Given the description of an element on the screen output the (x, y) to click on. 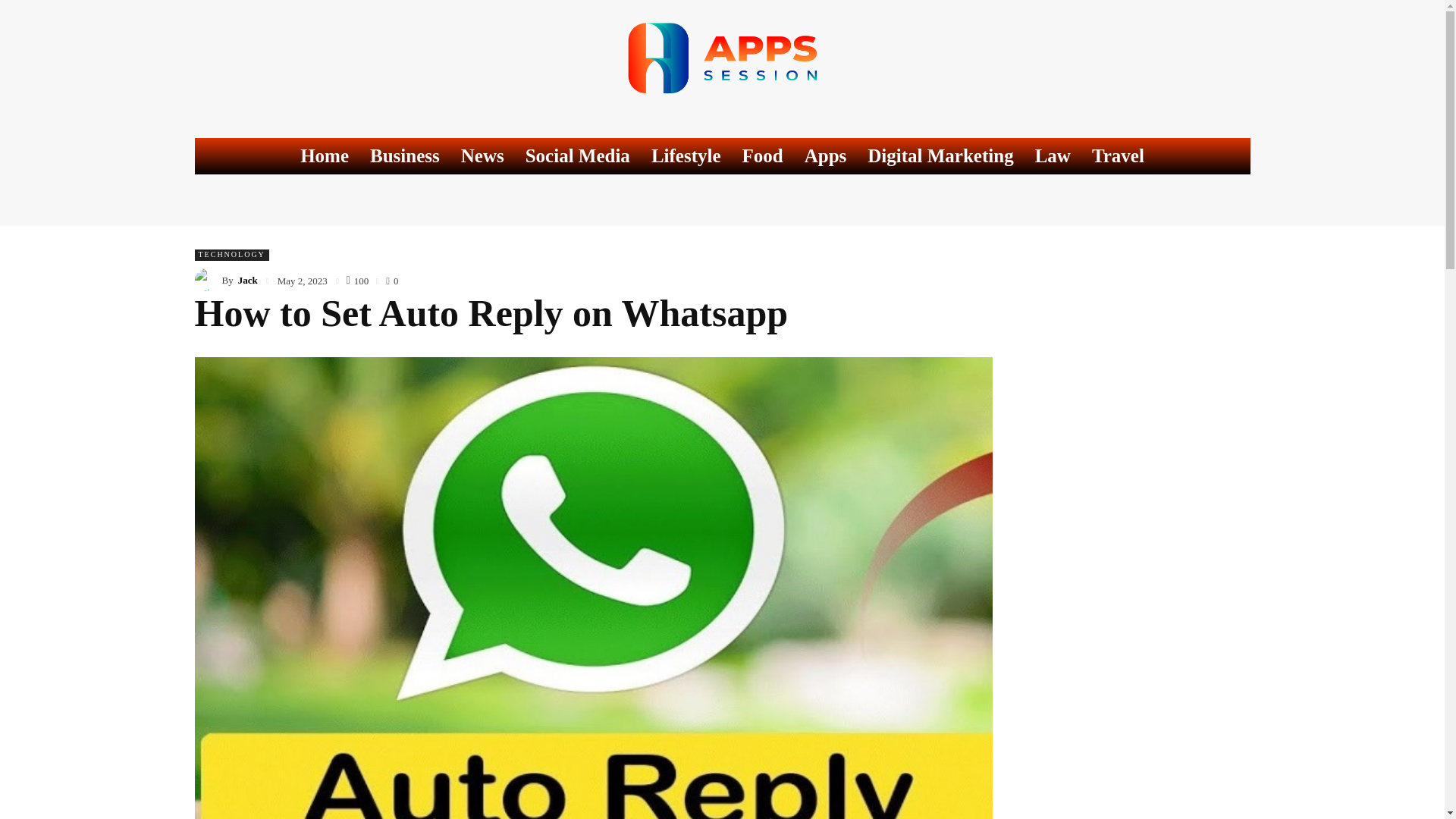
Travel (1117, 156)
Lifestyle (686, 156)
Apps (825, 156)
Jack (207, 279)
Social Media (577, 156)
Jack (247, 280)
News (482, 156)
0 (391, 279)
Home (324, 156)
Business (404, 156)
